Given the description of an element on the screen output the (x, y) to click on. 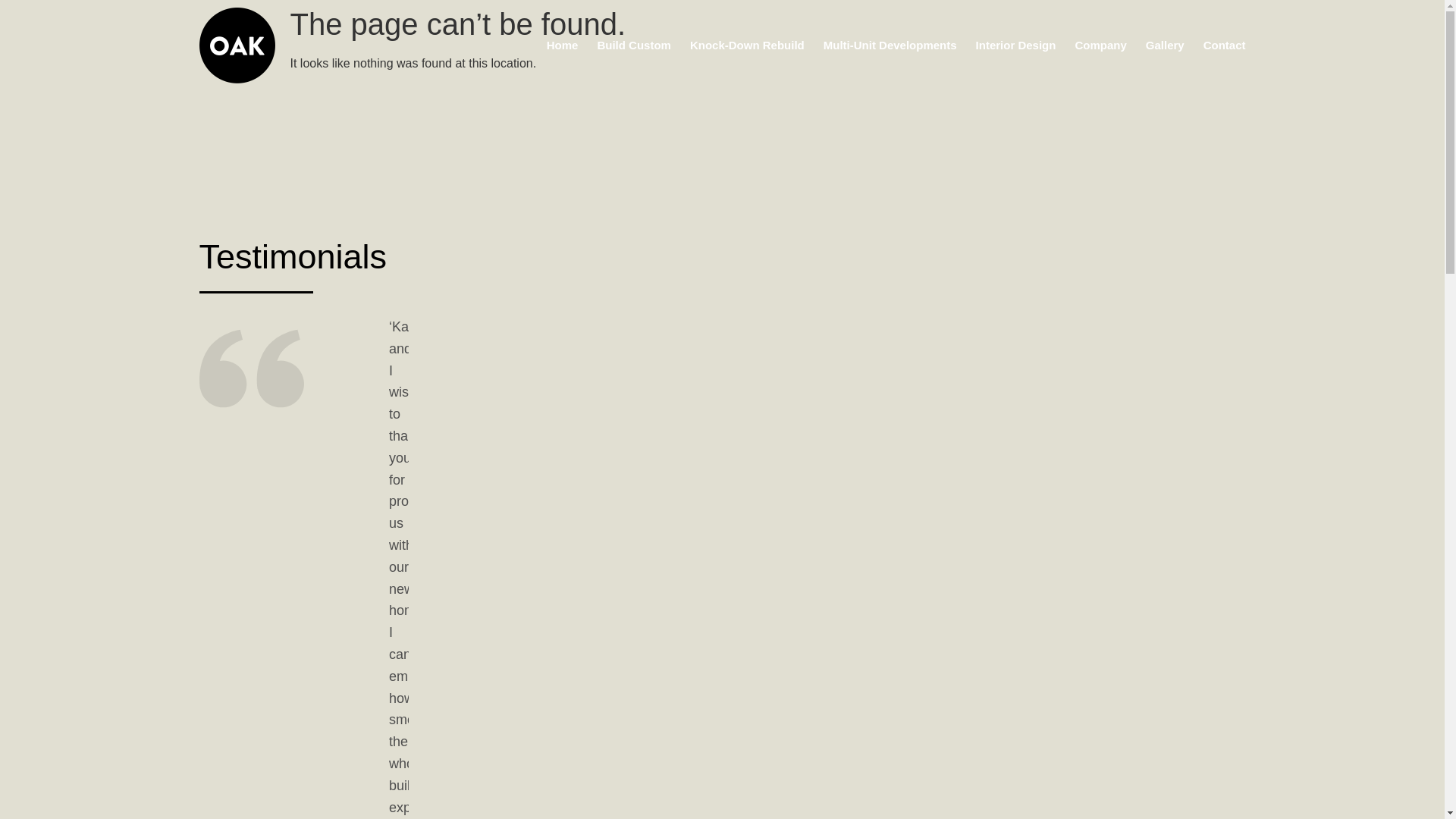
Gallery Element type: text (1164, 45)
Build Custom Element type: text (633, 45)
Knock-Down Rebuild Element type: text (747, 45)
Contact Element type: text (1224, 45)
Multi-Unit Developments Element type: text (890, 45)
Home Element type: text (562, 45)
Interior Design Element type: text (1015, 45)
Company Element type: text (1100, 45)
